Given the description of an element on the screen output the (x, y) to click on. 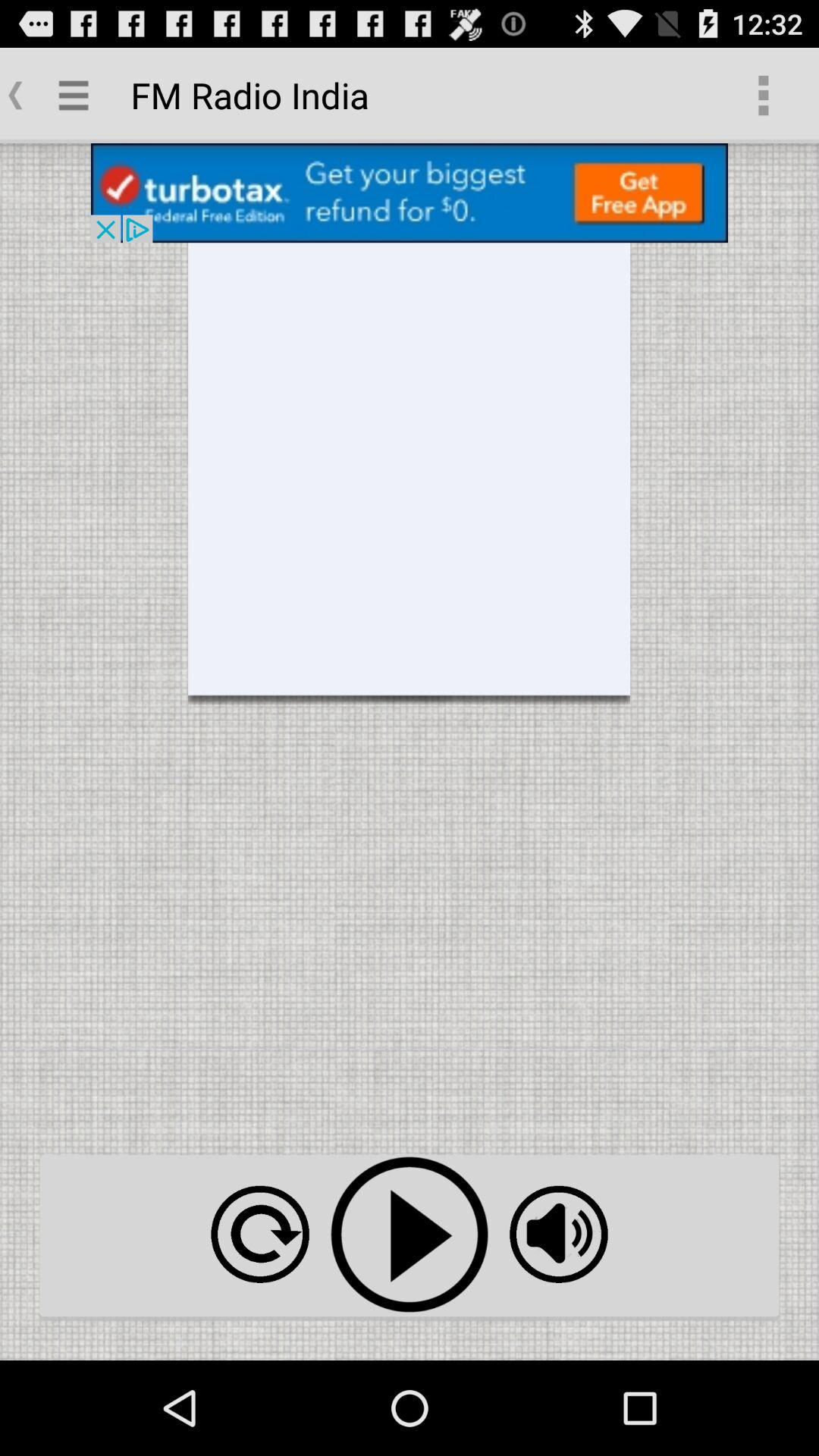
refresh (259, 1234)
